Given the description of an element on the screen output the (x, y) to click on. 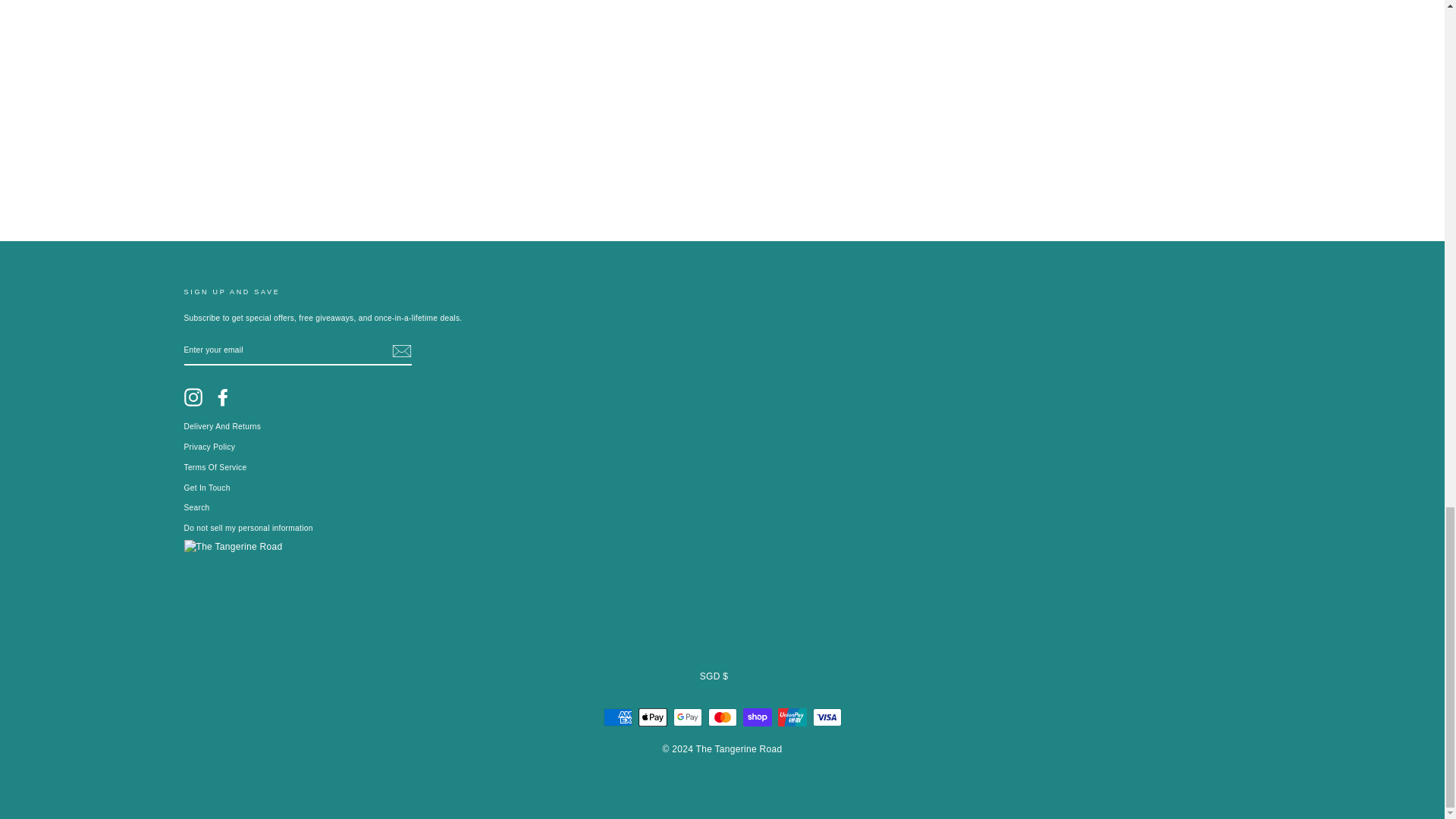
The Tangerine Road on Instagram (192, 397)
Visa (826, 716)
Mastercard (721, 716)
Apple Pay (652, 716)
Union Pay (791, 716)
The Tangerine Road on Facebook (222, 397)
American Express (617, 716)
Google Pay (686, 716)
Shop Pay (756, 716)
